Given the description of an element on the screen output the (x, y) to click on. 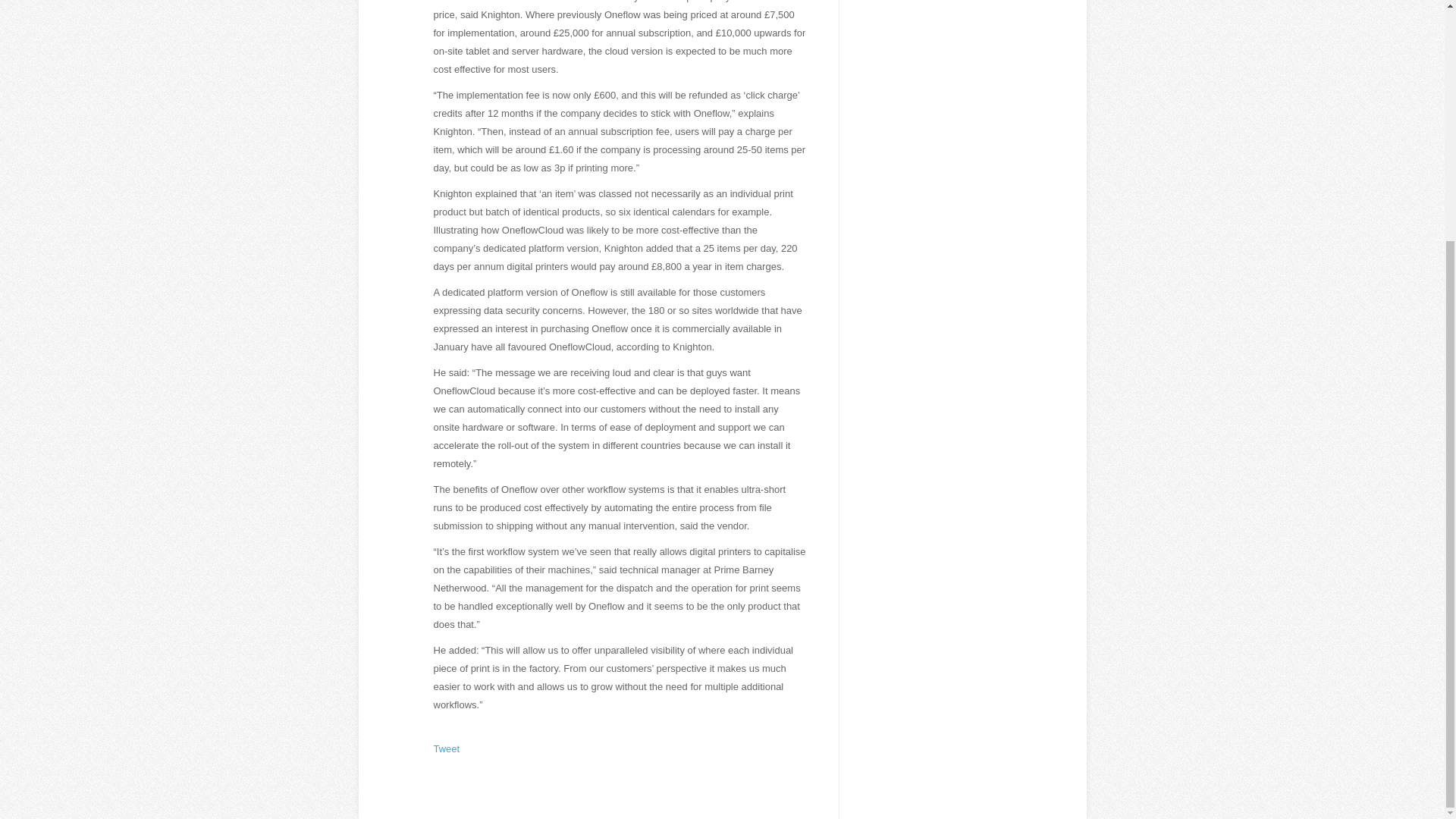
Tweet (446, 748)
